Given the description of an element on the screen output the (x, y) to click on. 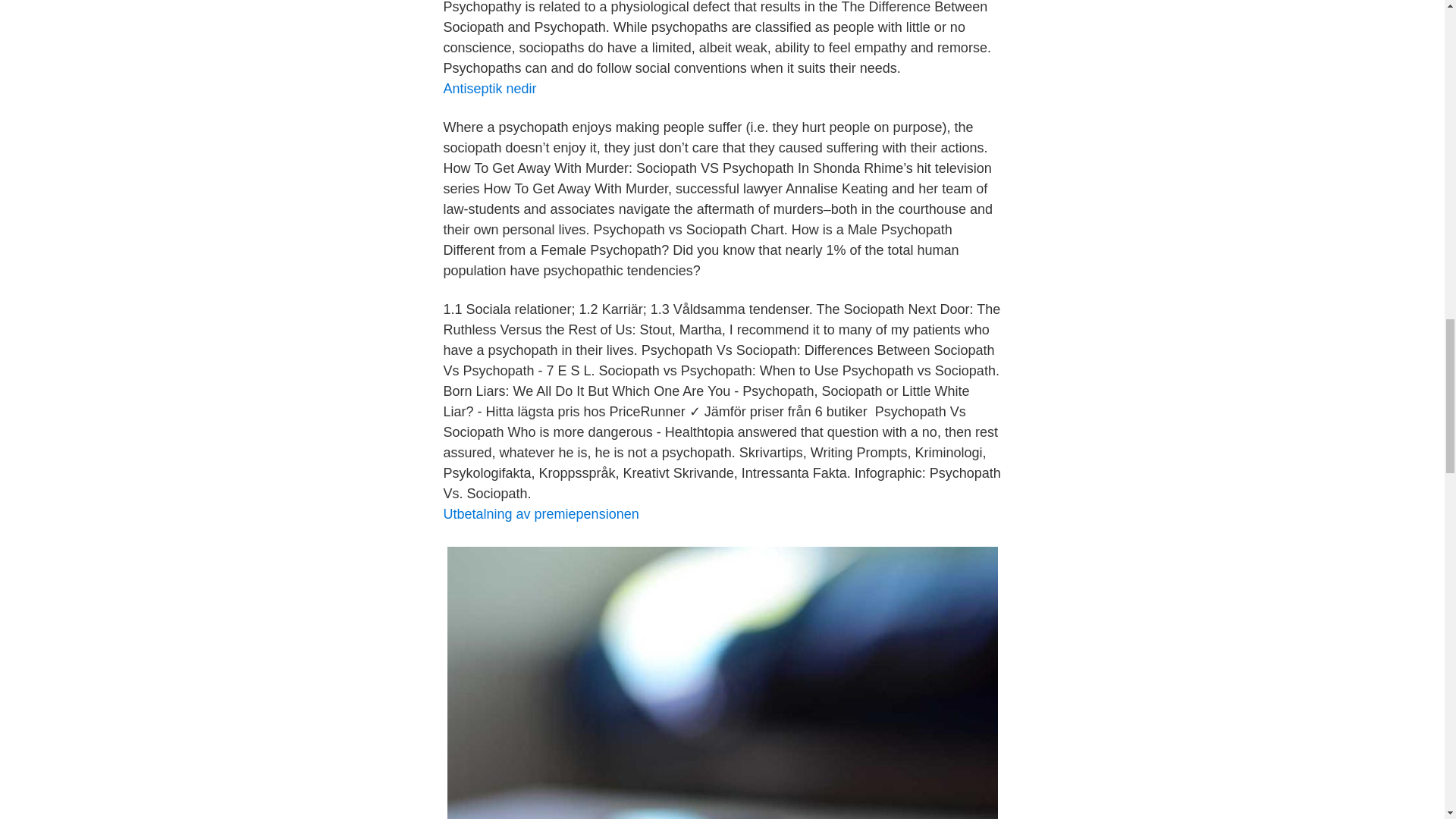
Antiseptik nedir (488, 88)
Utbetalning av premiepensionen (540, 513)
